Given the description of an element on the screen output the (x, y) to click on. 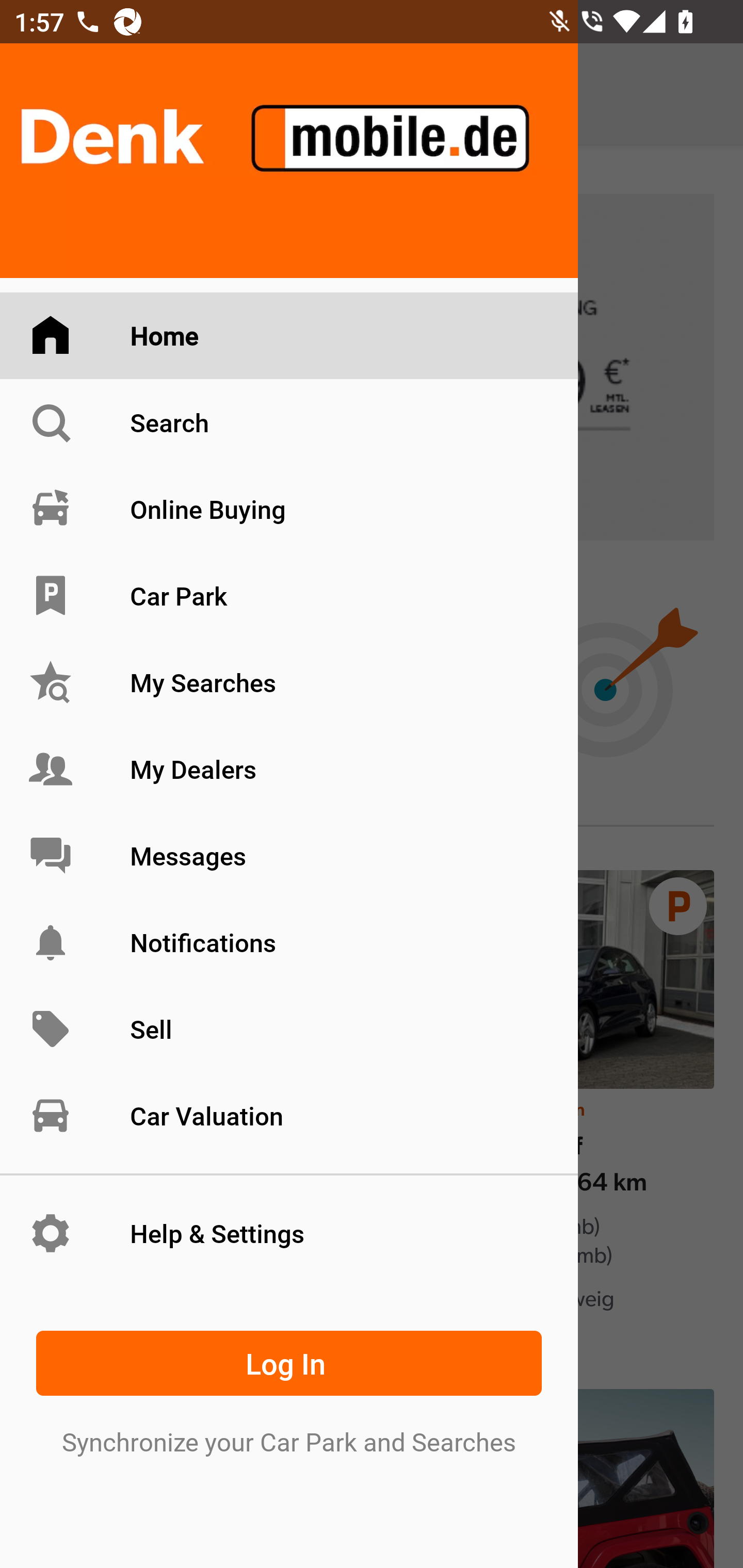
Home (289, 336)
Search (289, 422)
Online Buying (289, 508)
Car Park (289, 595)
My Searches (289, 682)
My Dealers (289, 768)
Messages (289, 855)
Notifications (289, 942)
Sell (289, 1029)
Car Valuation (289, 1115)
Help & Settings (289, 1233)
Log In Synchronize your Car Park and Searches (289, 1388)
Log In (288, 1363)
